Given the description of an element on the screen output the (x, y) to click on. 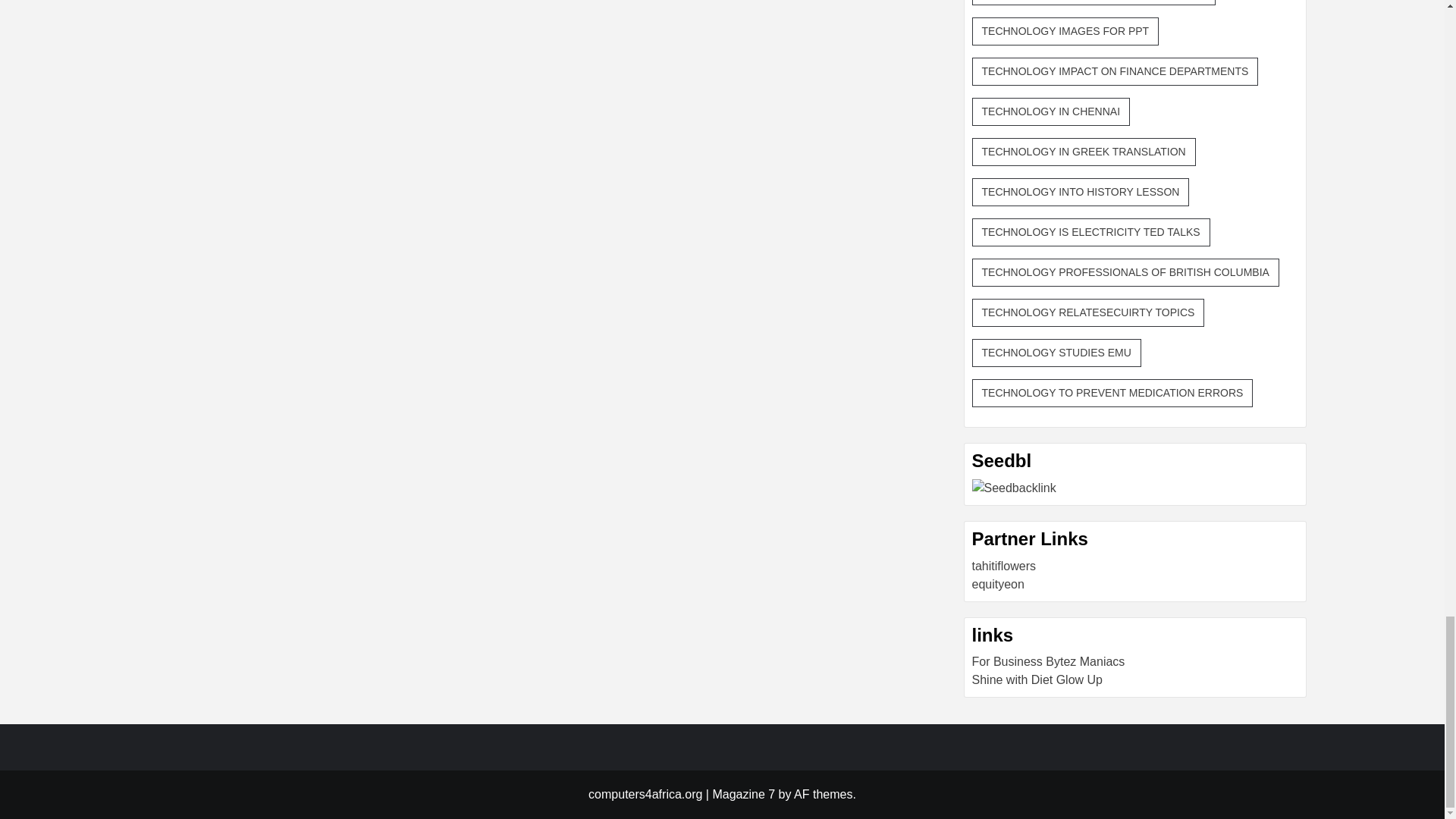
Seedbacklink (1014, 488)
